Given the description of an element on the screen output the (x, y) to click on. 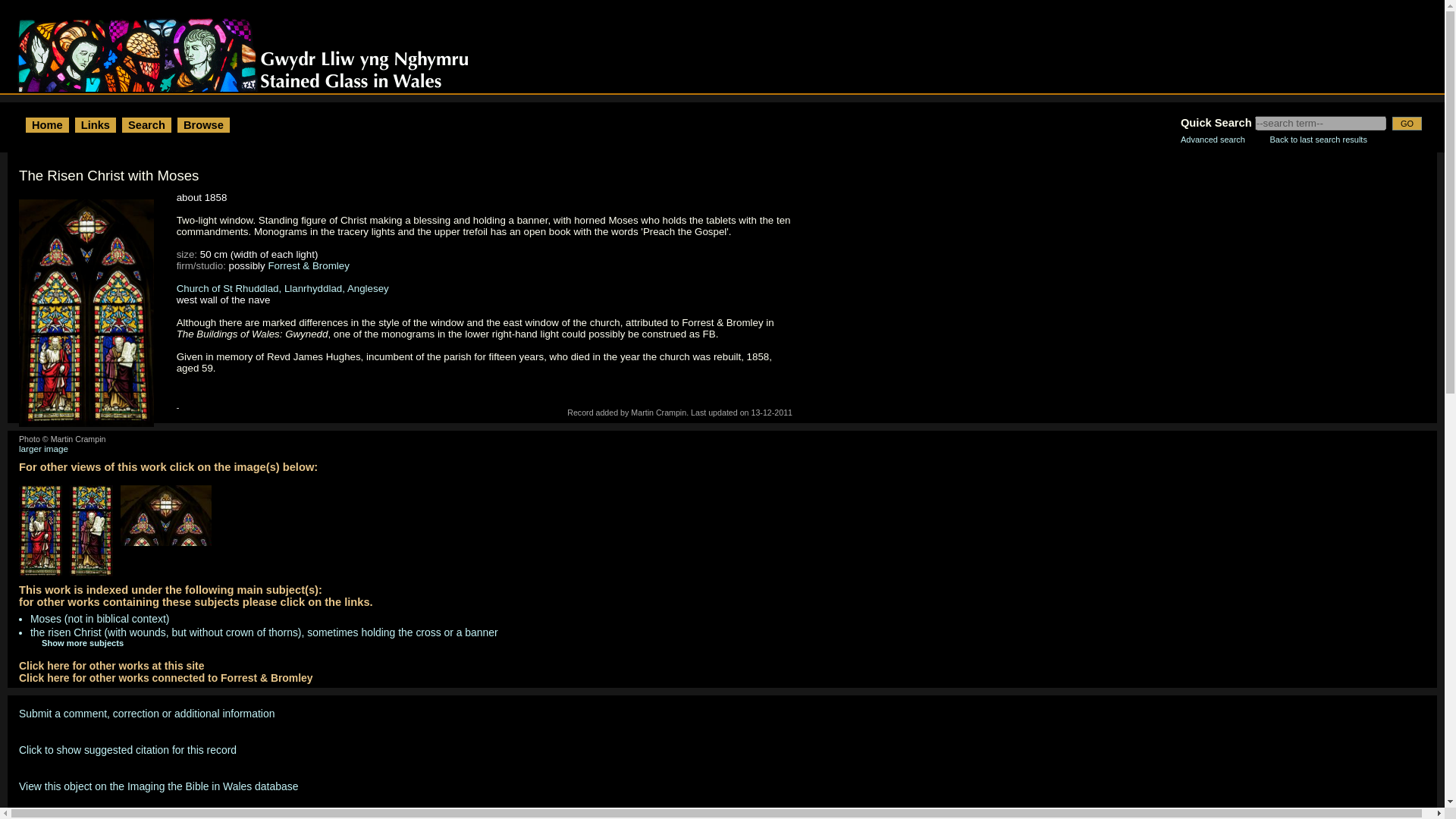
--search term-- (1320, 123)
Submit a comment, correction or additional information (146, 713)
Advanced search (1212, 139)
View this object on the Imaging the Bible in Wales database (158, 786)
GO (1406, 123)
Click to show suggested citation for this record (126, 749)
Show more subjects (70, 642)
Back to last search results (1318, 139)
Home (47, 124)
larger image (43, 448)
Search (146, 124)
Browse (203, 124)
GO (1406, 123)
Church of St Rhuddlad, Llanrhyddlad, Anglesey (282, 288)
Tracery Lights: The Risen Christ with Moses (169, 519)
